Given the description of an element on the screen output the (x, y) to click on. 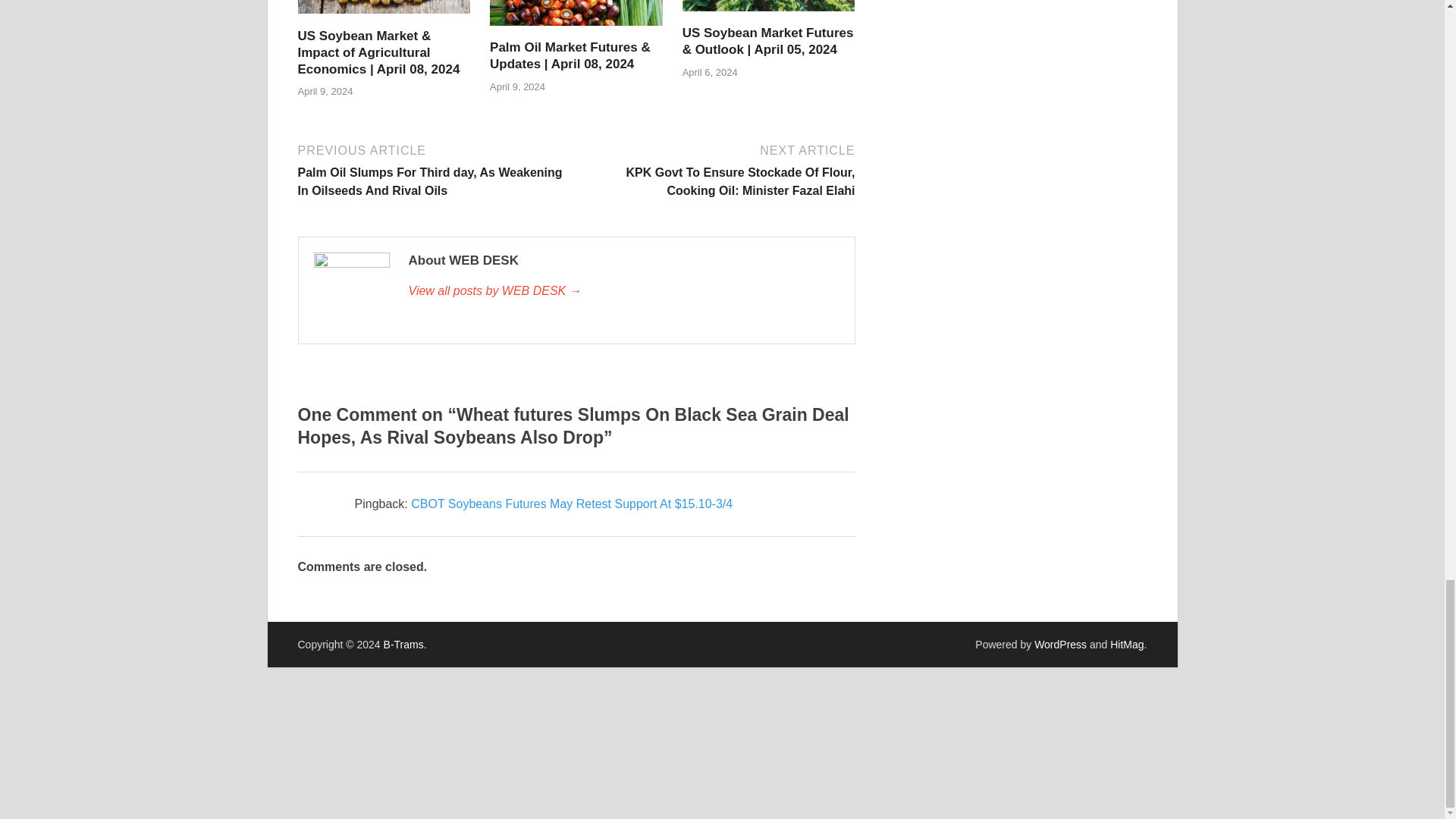
WEB DESK (622, 290)
WordPress (1059, 644)
HitMag WordPress Theme (1125, 644)
B-Trams (403, 644)
